Given the description of an element on the screen output the (x, y) to click on. 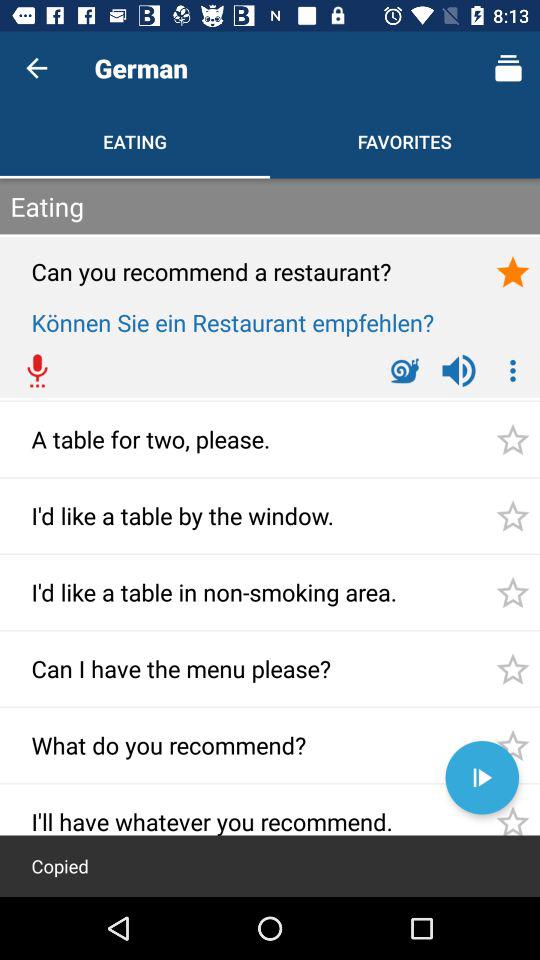
click on icon right to id like a table by the window (512, 516)
click on the volume icon which is left to 3 dot vertical icon (458, 370)
